Given the description of an element on the screen output the (x, y) to click on. 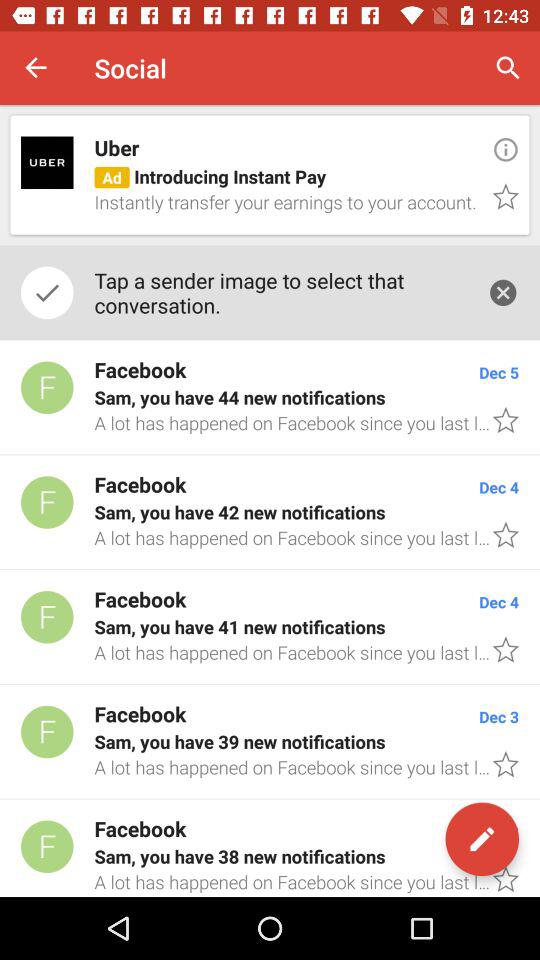
turn on item below instantly transfer your icon (280, 292)
